Given the description of an element on the screen output the (x, y) to click on. 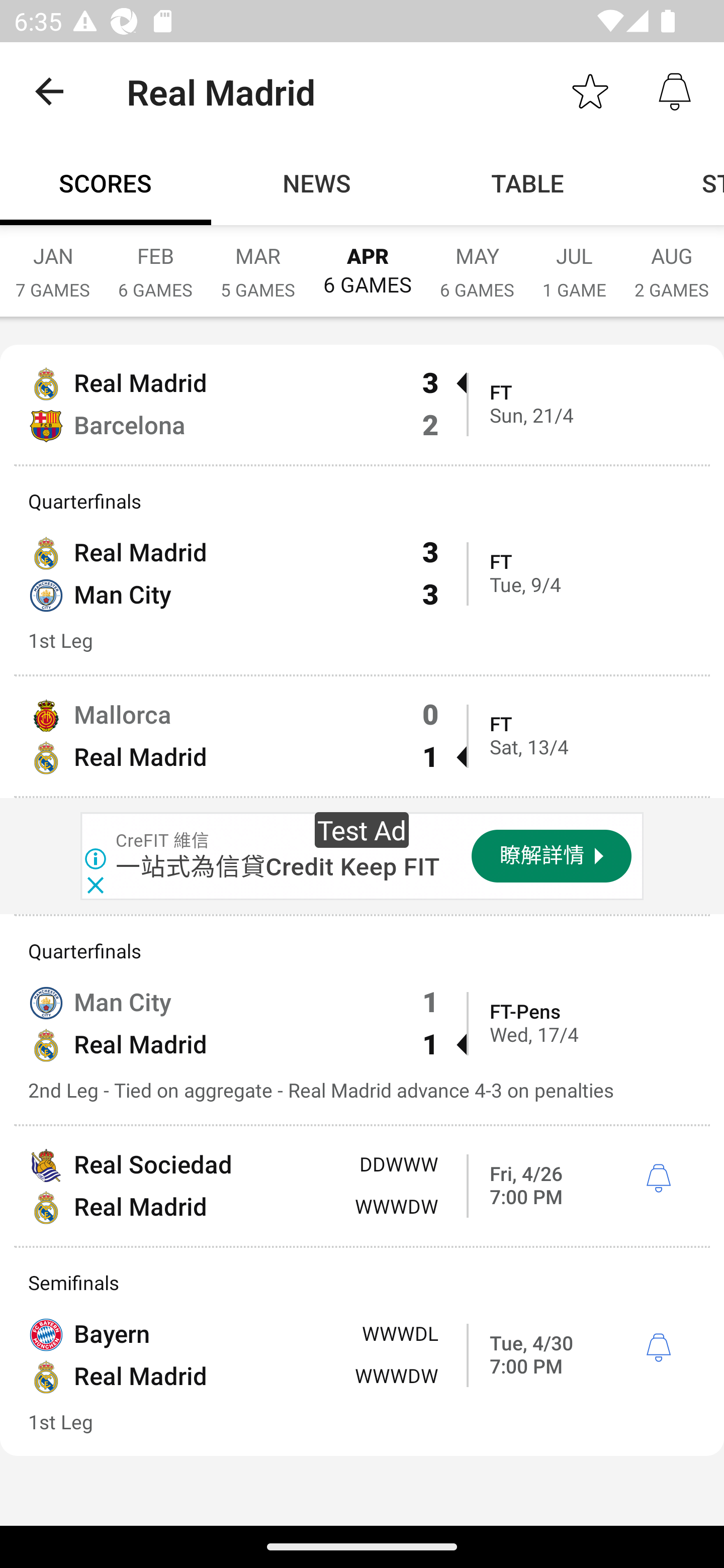
back.button (49, 90)
Favorite toggle (590, 90)
Alerts (674, 90)
News NEWS (316, 183)
Table TABLE (527, 183)
JAN 7 GAMES (52, 262)
FEB 6 GAMES (155, 262)
MAR 5 GAMES (257, 262)
APR 6 GAMES (367, 261)
MAY 6 GAMES (476, 262)
JUL 1 GAME (574, 262)
AUG 2 GAMES (671, 262)
Real Madrid 3  Barcelona 2 FT Sun, 21/4 (362, 404)
Mallorca 0 Real Madrid 1  FT Sat, 13/4 (362, 735)
CreFIT 維信 (162, 840)
瞭解詳情 (551, 855)
一站式為信貸Credit Keep FIT (277, 866)
í (658, 1178)
í (658, 1348)
